Given the description of an element on the screen output the (x, y) to click on. 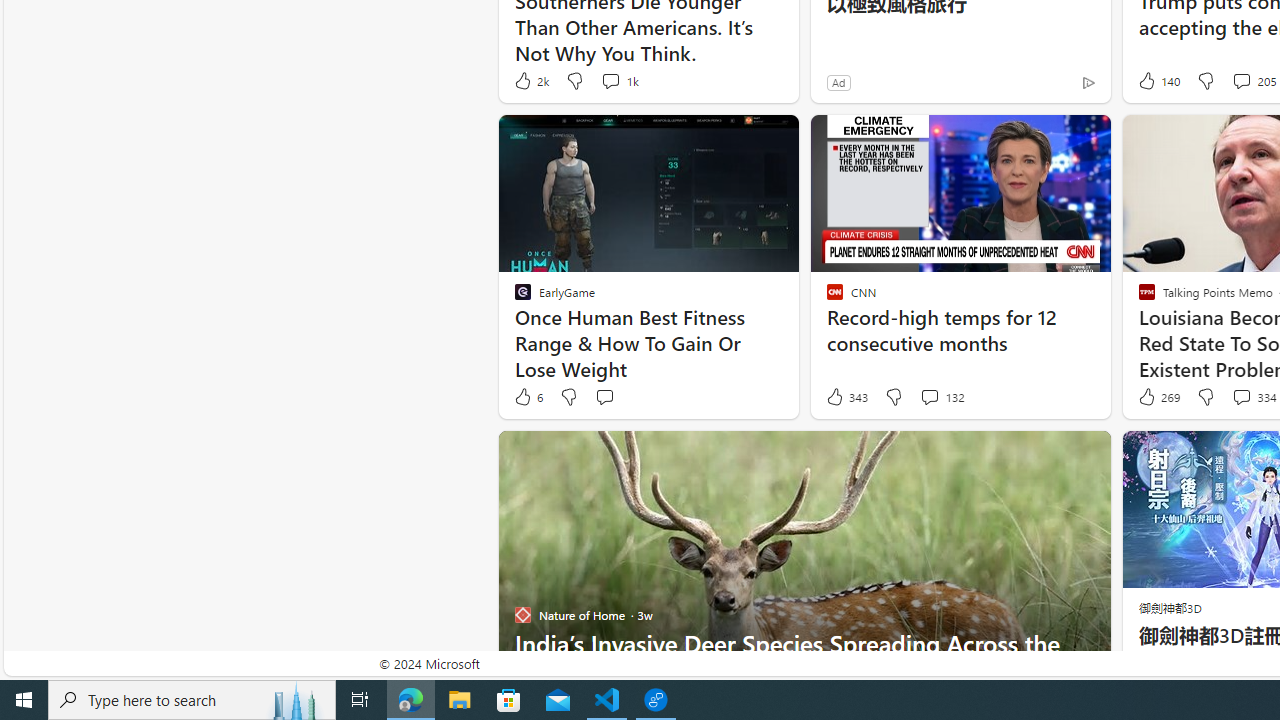
View comments 205 Comment (1241, 80)
View comments 1k Comment (618, 80)
140 Like (1157, 80)
6 Like (527, 397)
View comments 334 Comment (1241, 396)
Hide this story (1050, 454)
343 Like (845, 397)
View comments 132 Comment (941, 397)
View comments 1k Comment (610, 80)
